Given the description of an element on the screen output the (x, y) to click on. 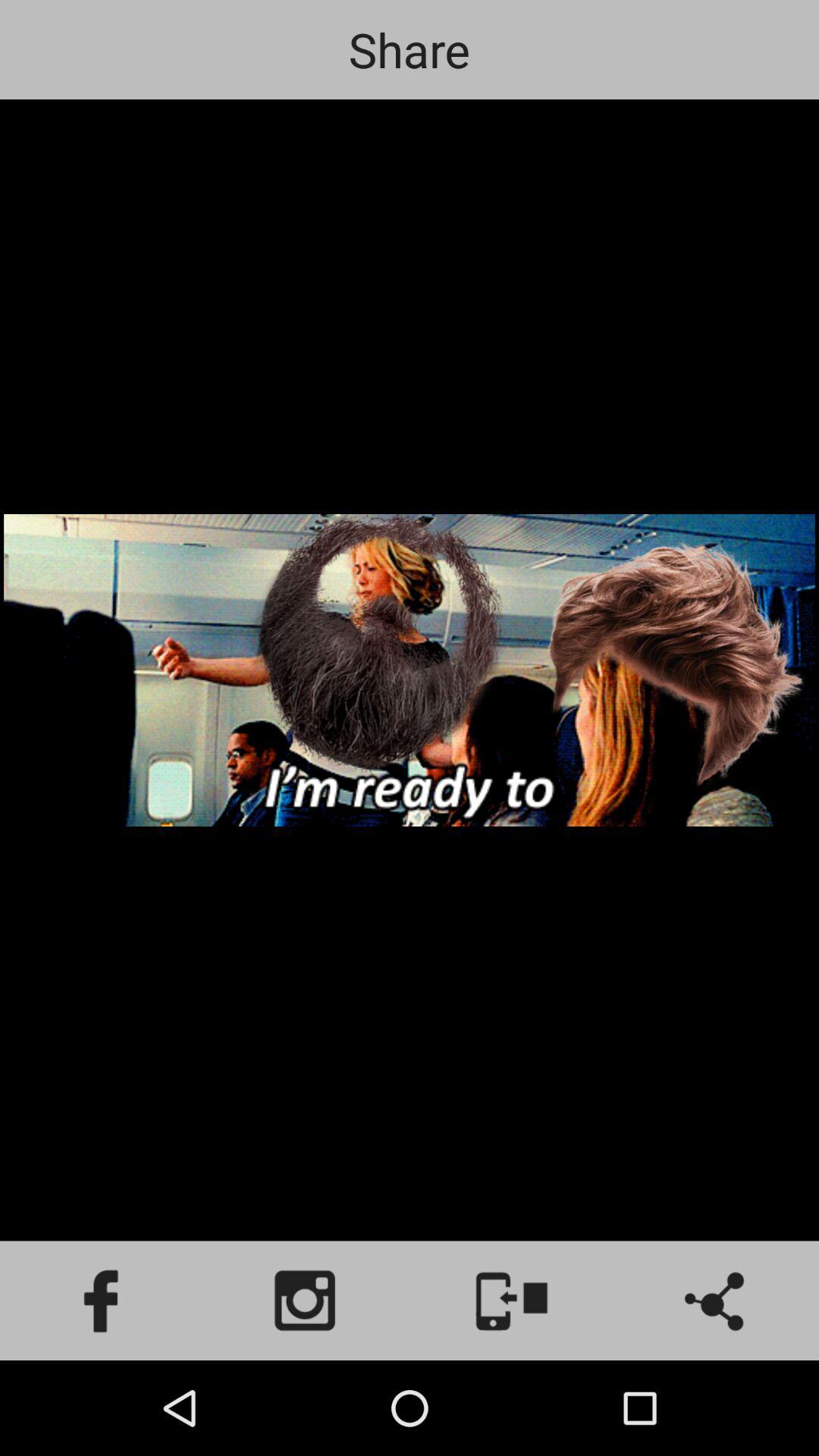
bluetooth (716, 1300)
